Given the description of an element on the screen output the (x, y) to click on. 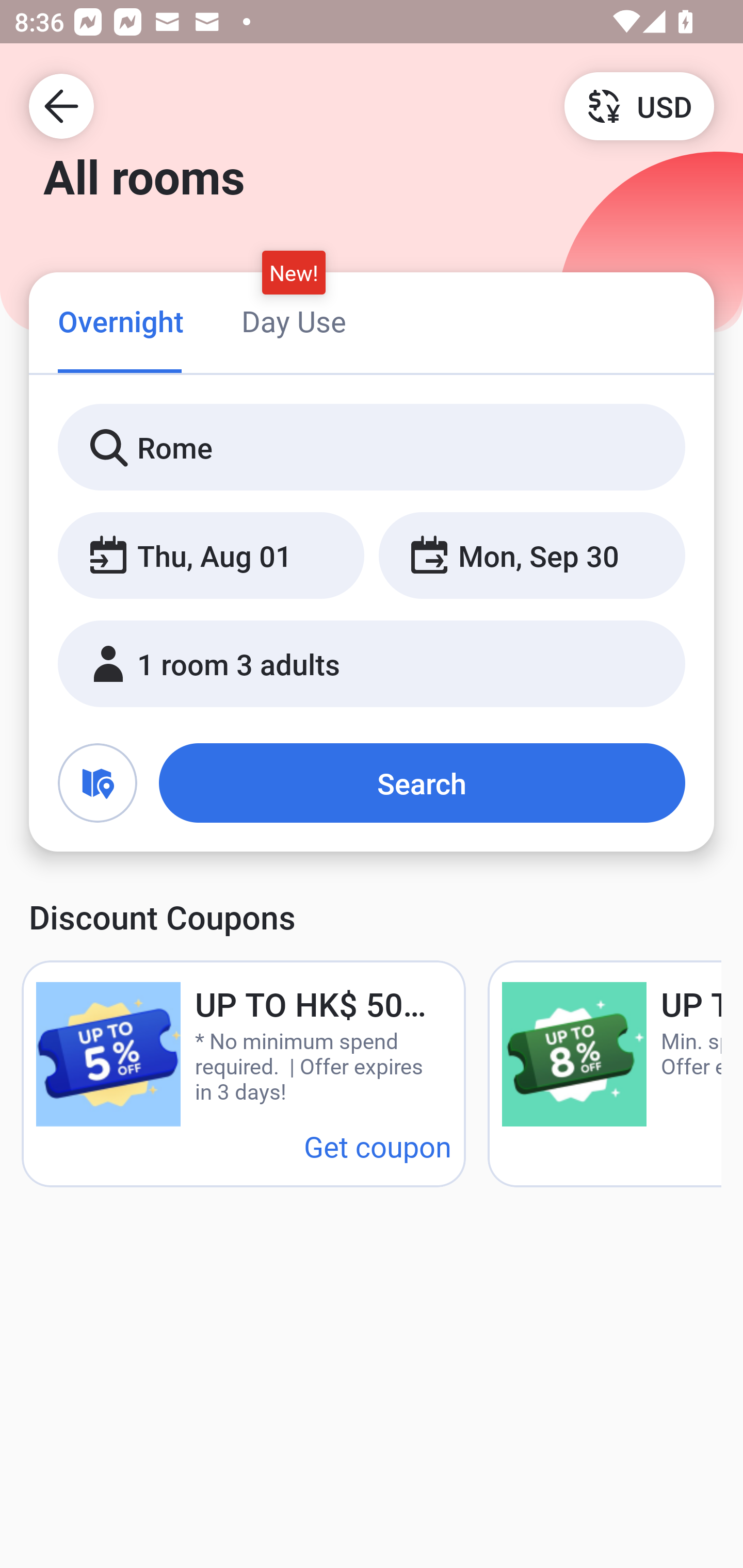
USD (639, 105)
New! (294, 272)
Day Use (293, 321)
Rome (371, 447)
Thu, Aug 01 (210, 555)
Mon, Sep 30 (531, 555)
1 room 3 adults (371, 663)
Search (422, 783)
Get coupon (377, 1146)
